Given the description of an element on the screen output the (x, y) to click on. 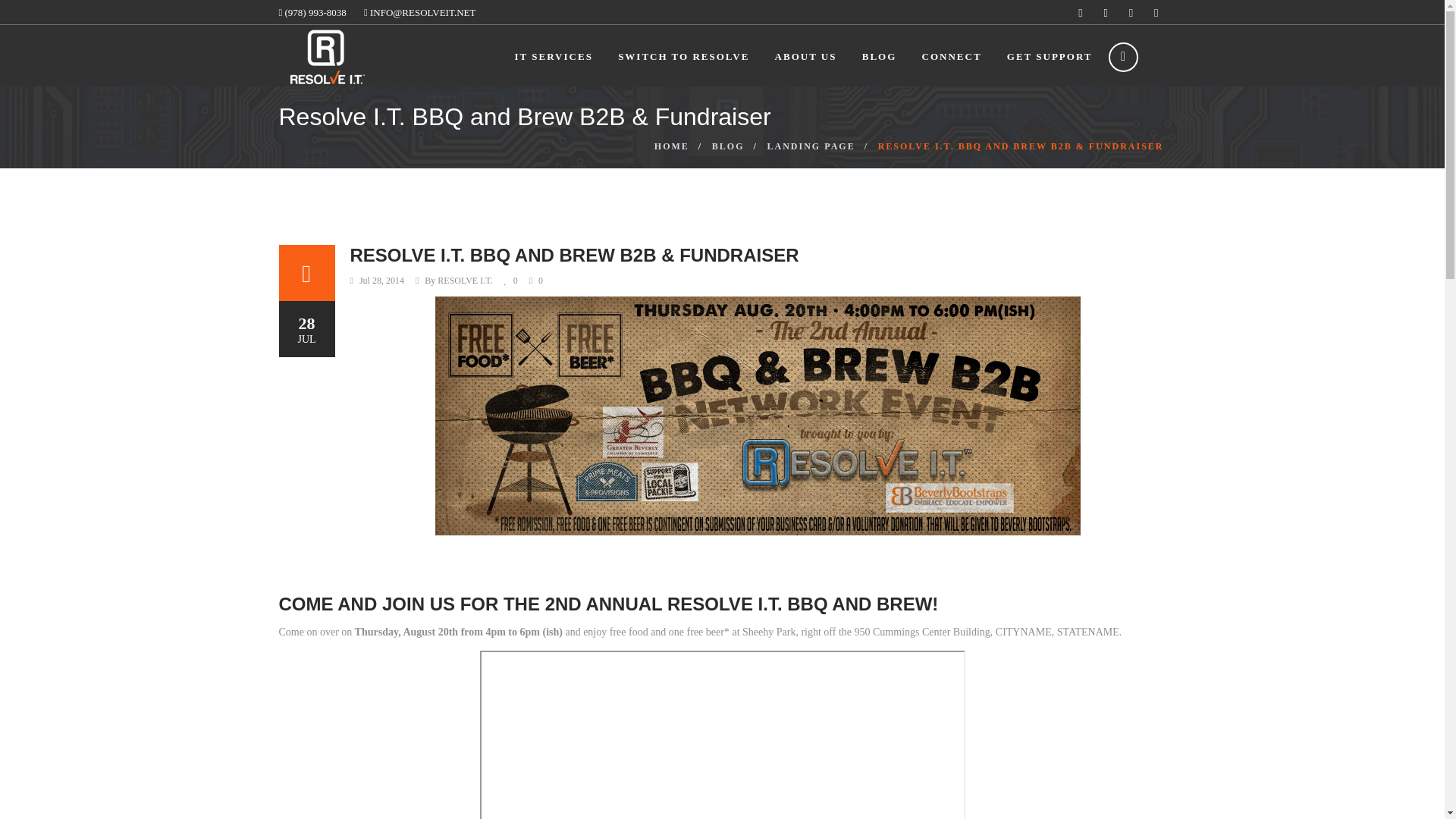
By RESOLVE I.T. (458, 280)
IT SERVICES (553, 56)
ABOUT US (805, 56)
CONNECT (951, 56)
BLOG (878, 56)
SWITCH TO RESOLVE (683, 56)
BLOG (727, 145)
LANDING PAGE (811, 145)
GET SUPPORT (1050, 56)
HOME (670, 145)
